Given the description of an element on the screen output the (x, y) to click on. 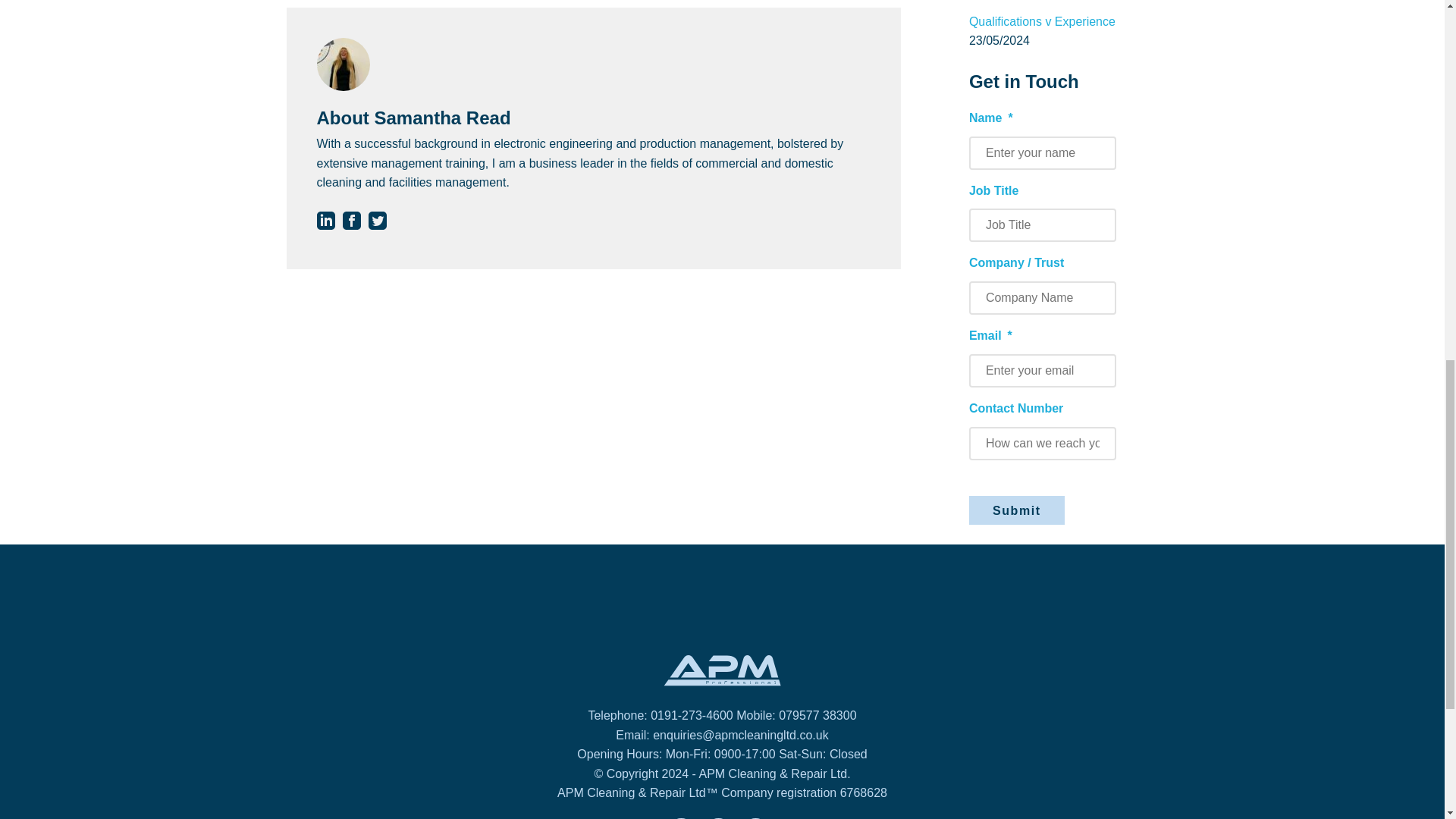
Submit (1016, 510)
